Given the description of an element on the screen output the (x, y) to click on. 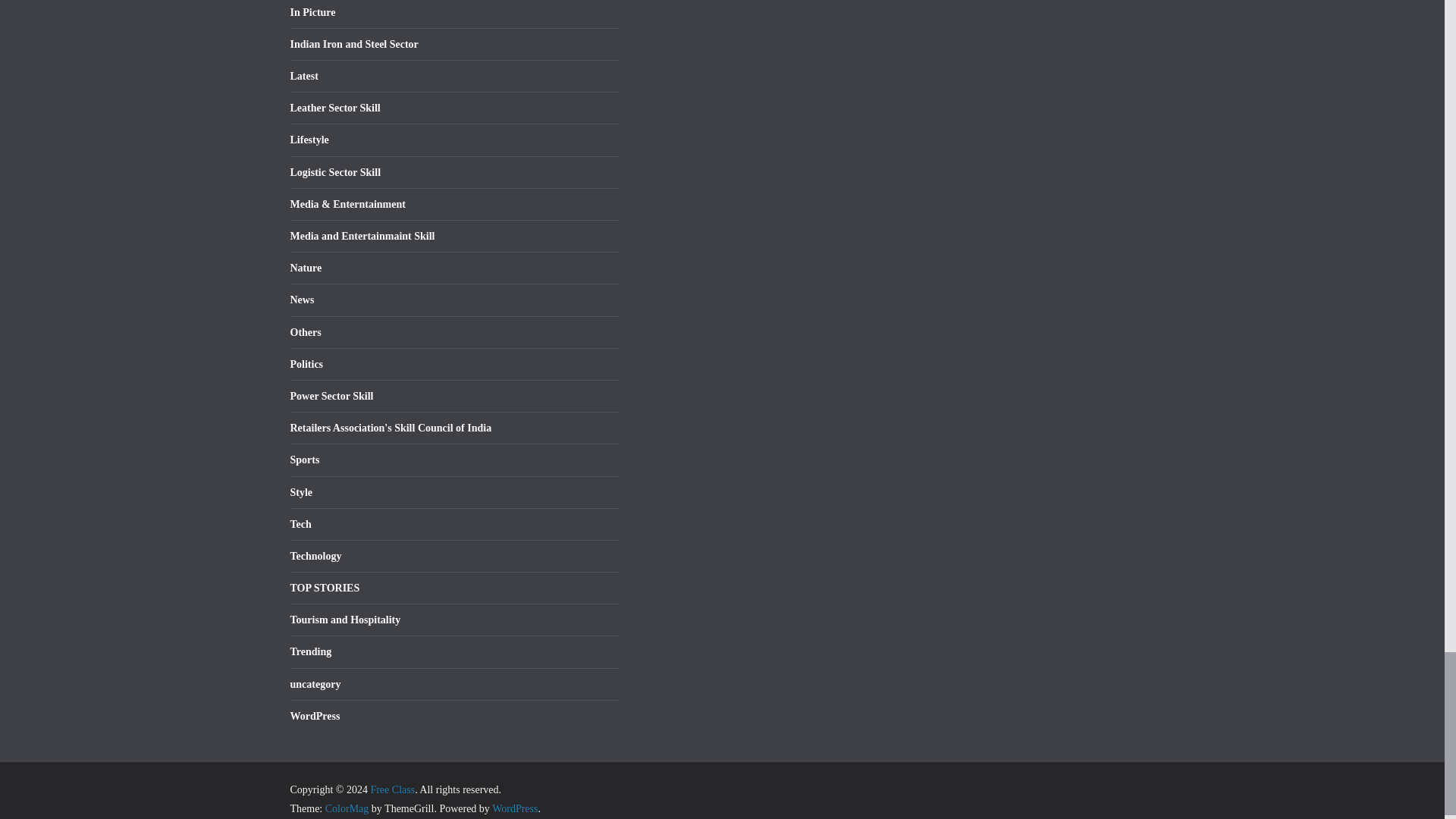
Free Class (391, 789)
ColorMag (346, 808)
WordPress (514, 808)
